Given the description of an element on the screen output the (x, y) to click on. 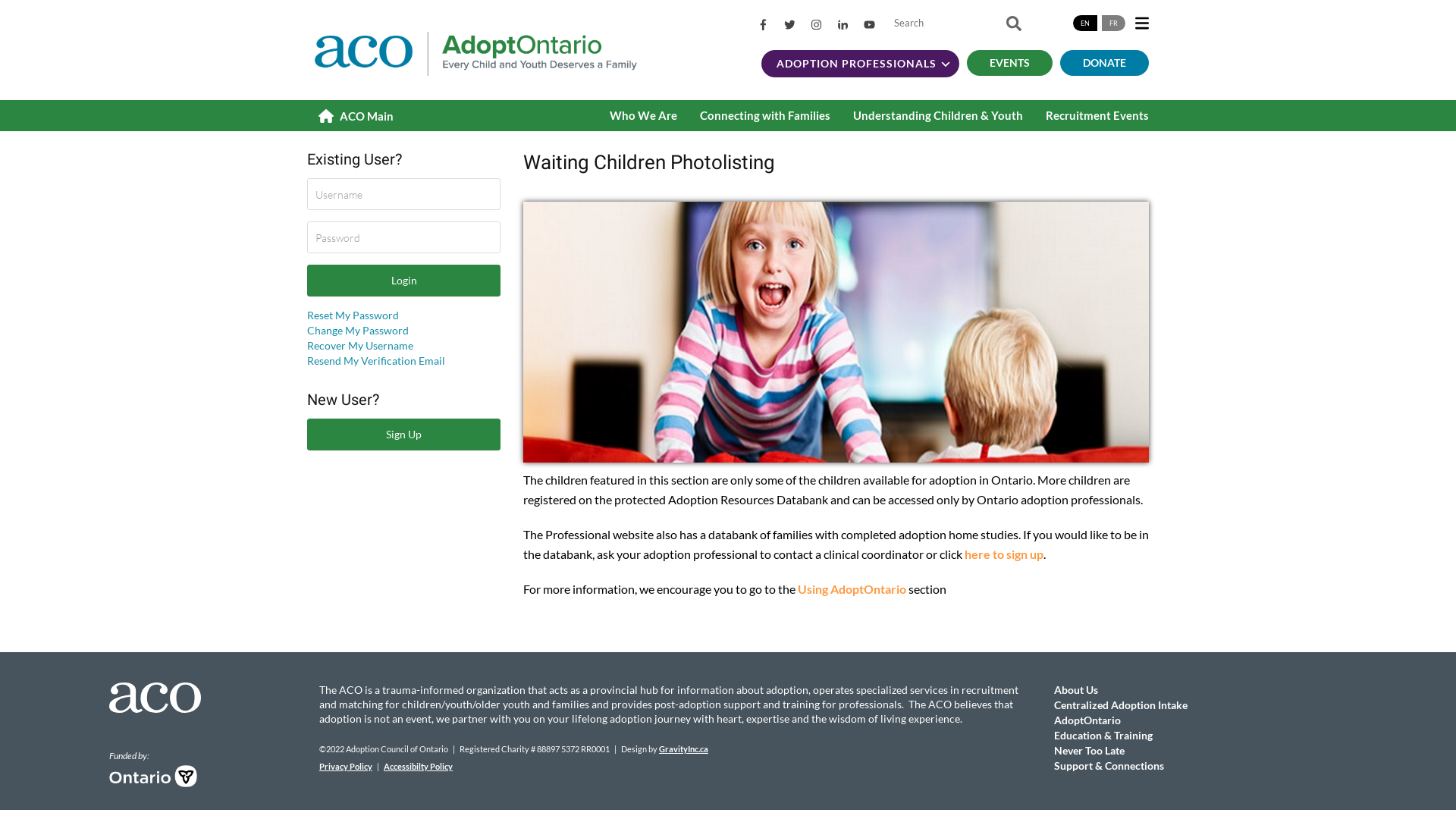
Change My Password Element type: text (357, 329)
Accessibilty Policy Element type: text (417, 766)
Education & Training Element type: text (1103, 734)
Privacy Policy Element type: text (345, 766)
ADOPTION PROFESSIONALS Element type: text (860, 63)
Support & Connections Element type: text (1109, 765)
Resend My Verification Email Element type: text (376, 360)
About Us Element type: text (1076, 689)
ACO Main Element type: text (355, 116)
GravityInc.ca Element type: text (683, 748)
Never Too Late Element type: text (1089, 749)
Understanding Children & Youth Element type: text (937, 115)
EN Element type: text (1085, 23)
EVENTS Element type: text (1009, 62)
FR Element type: text (1113, 23)
Sign Up Element type: text (403, 434)
DONATE Element type: text (1104, 62)
Using AdoptOntario Element type: text (851, 588)
Recover My Username Element type: text (360, 344)
Who We Are Element type: text (643, 115)
Reset My Password Element type: text (352, 314)
Recruitment Events Element type: text (1096, 115)
AdoptOntario Element type: text (1087, 719)
Login Element type: text (403, 280)
Centralized Adoption Intake Element type: text (1120, 704)
Connecting with Families Element type: text (764, 115)
here to sign up Element type: text (1003, 553)
